Given the description of an element on the screen output the (x, y) to click on. 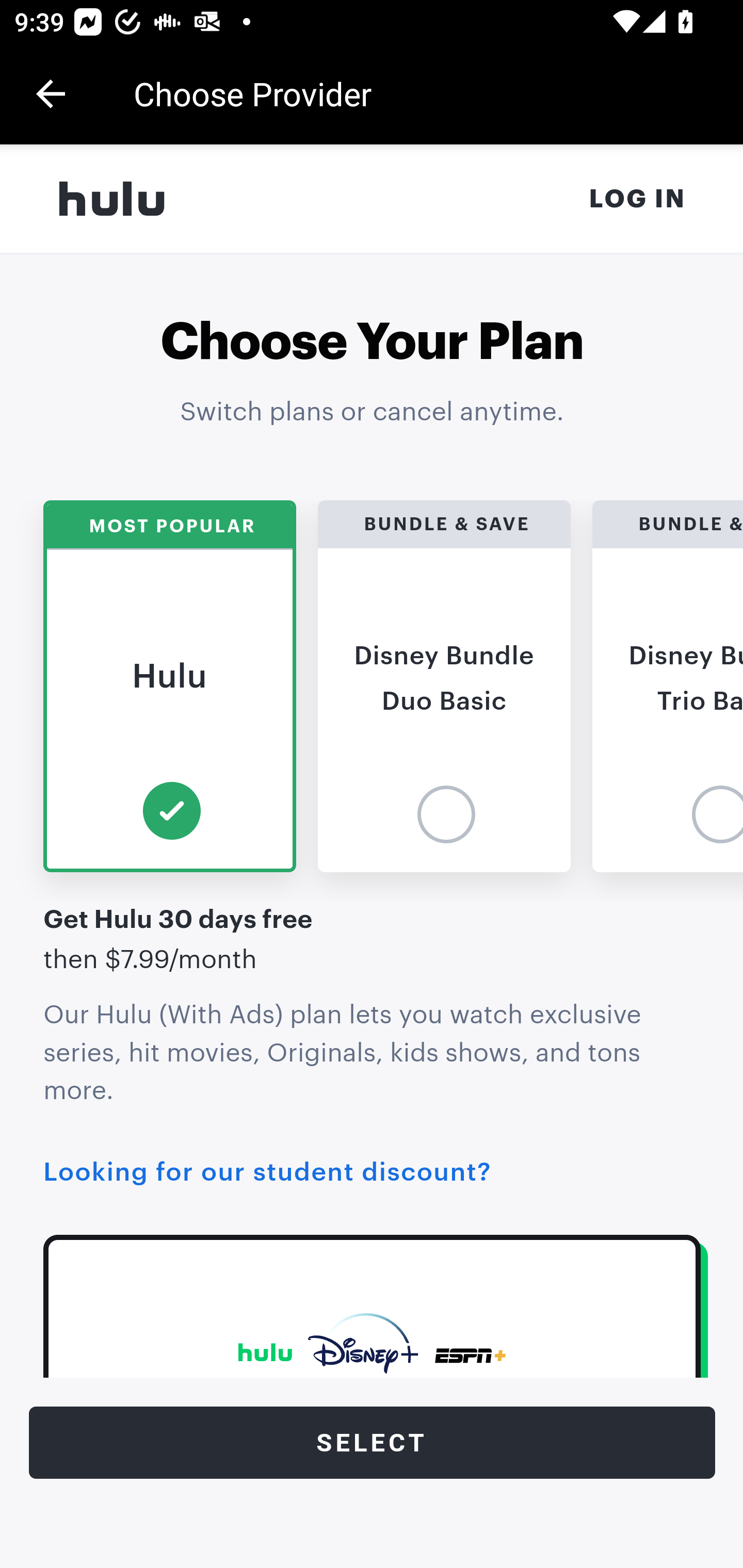
Navigate up (50, 93)
LOG IN (638, 199)
MOST POPULAR Hulu (169, 685)
BUNDLE & SAVE Disney Bundle Duo Basic (444, 685)
BUNDLE & SAVE Disney Bundle Trio Basic (667, 685)
Looking for our student discount? (267, 1171)
Select Hulu for $7.99/month (372, 1443)
